Given the description of an element on the screen output the (x, y) to click on. 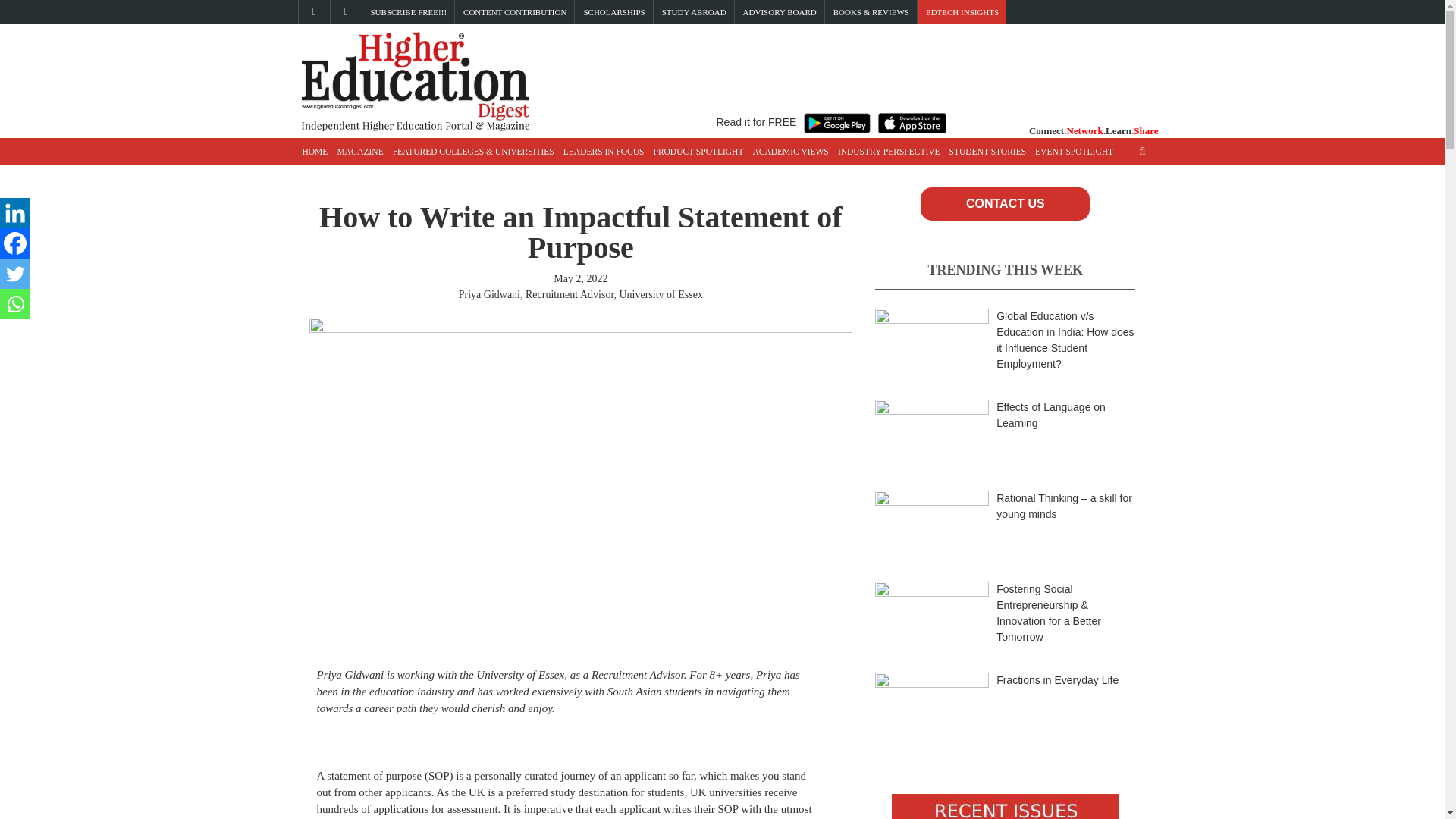
EDTECH INSIGHTS (962, 12)
Whatsapp (15, 304)
ACADEMIC VIEWS (790, 151)
HOME (314, 151)
PRODUCT SPOTLIGHT (698, 151)
SCHOLARSHIPS (614, 12)
EVENT SPOTLIGHT (1074, 151)
SUBSCRIBE FREE!!! (407, 12)
STUDY ABROAD (694, 12)
INDUSTRY PERSPECTIVE (888, 151)
